Given the description of an element on the screen output the (x, y) to click on. 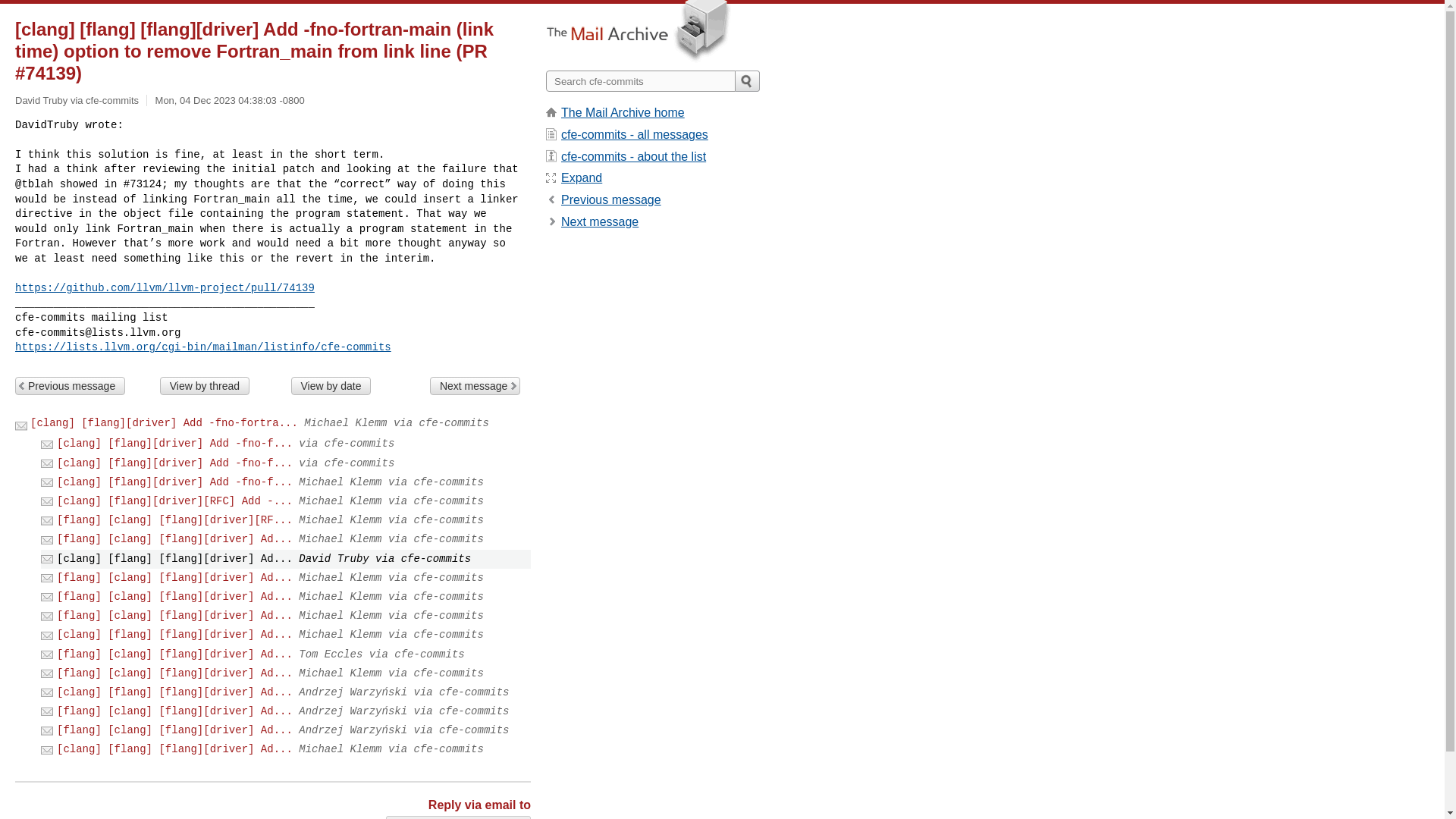
Next message (474, 385)
Next message (599, 221)
n (599, 221)
The Mail Archive home (622, 112)
View by date (331, 385)
Previous message (69, 385)
cfe-commits - all messages (633, 133)
 David Truby via cfe-commits  (458, 817)
Mon, 04 Dec 2023 04:38:03 -0800 (229, 100)
Expand (581, 177)
View by thread (204, 385)
cfe-commits - about the list (633, 155)
e (581, 177)
p (610, 199)
 David Truby via cfe-commits  (458, 817)
